Given the description of an element on the screen output the (x, y) to click on. 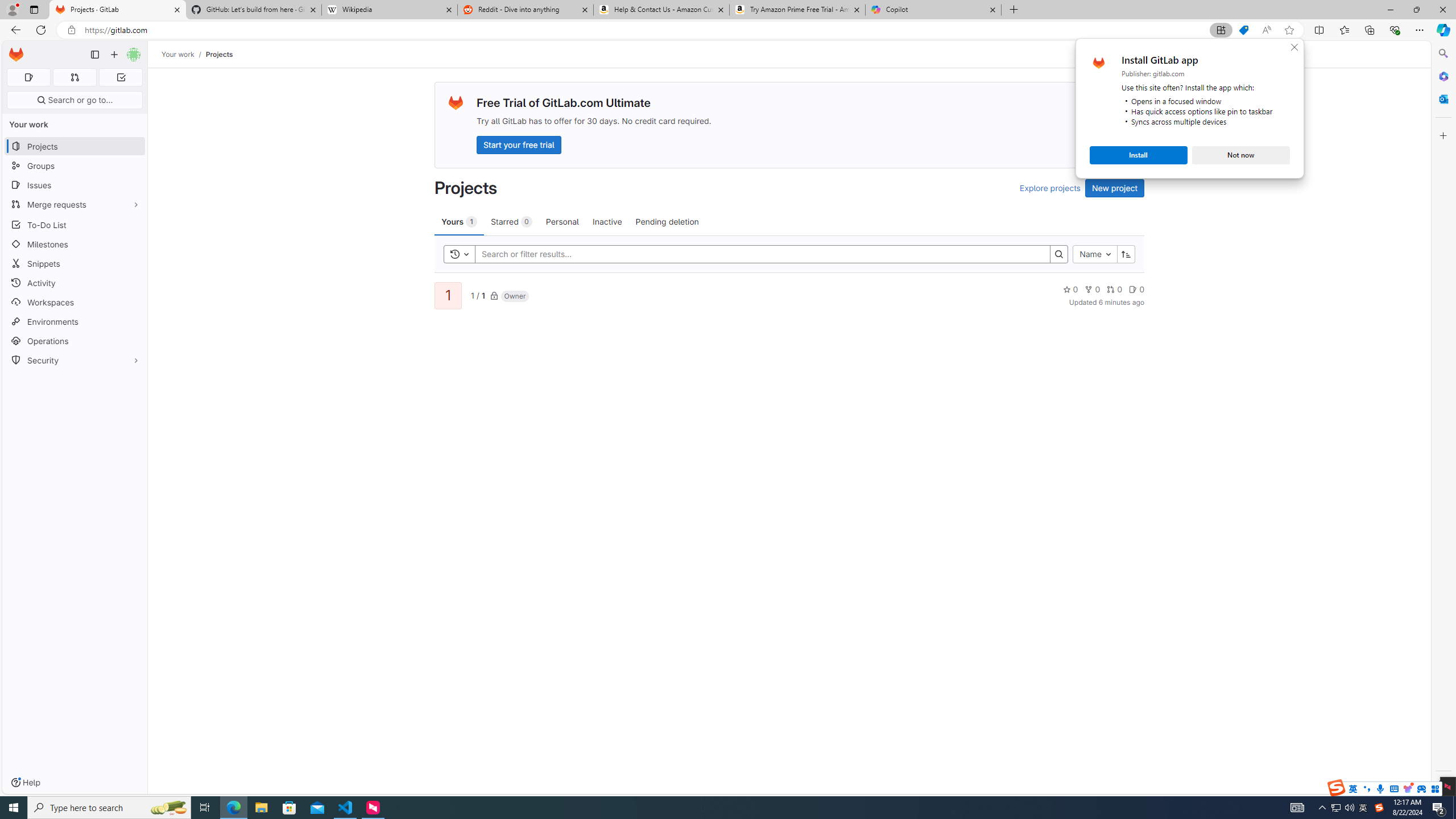
Task View (204, 807)
Q2790: 100% (1349, 807)
Microsoft Store (289, 807)
Not now (1241, 154)
Type here to search (1335, 807)
Tray Input Indicator - Chinese (Simplified, China) (108, 807)
User Promoted Notification Area (1378, 807)
